Given the description of an element on the screen output the (x, y) to click on. 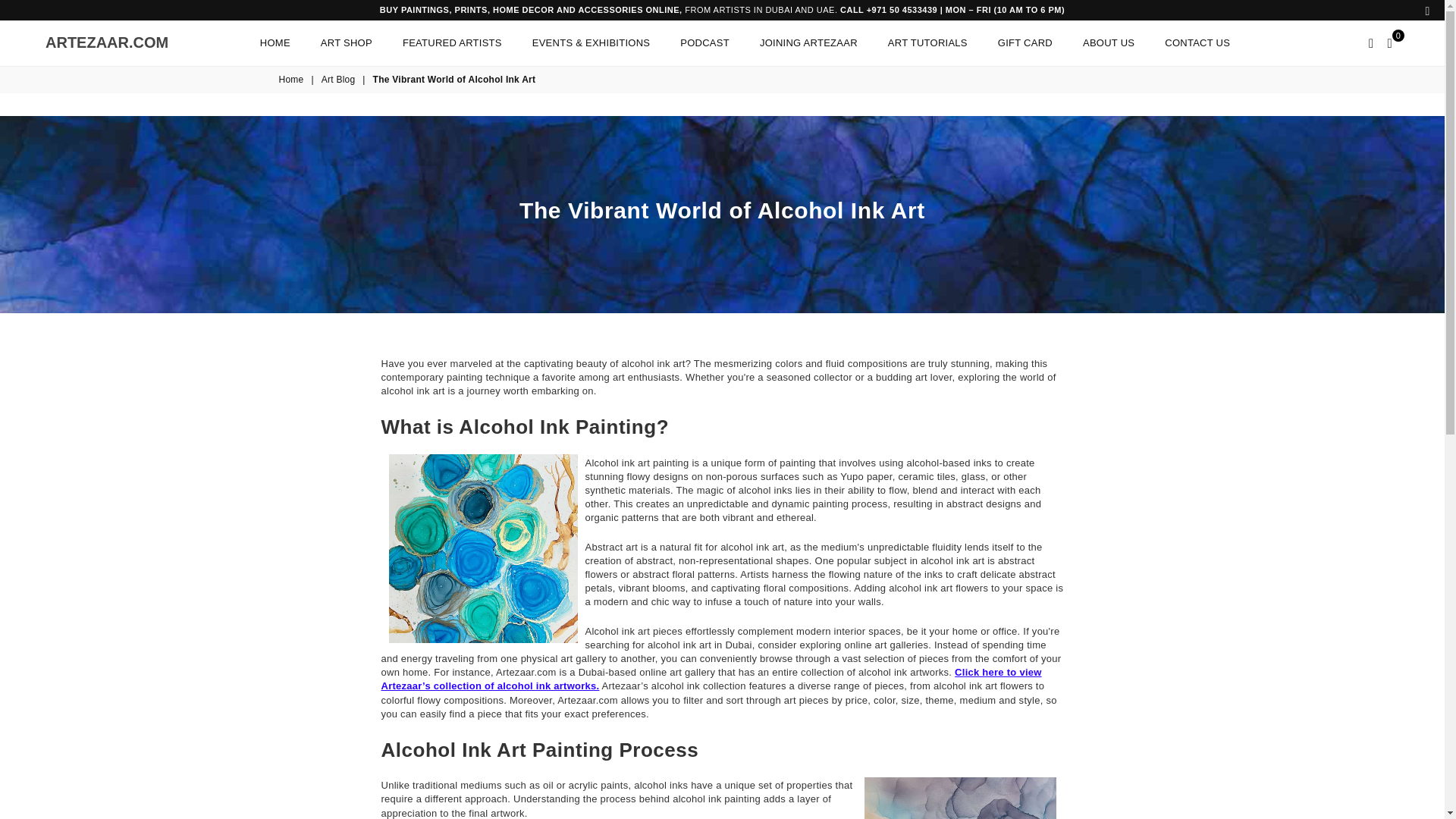
ART SHOP (346, 42)
HOME (274, 42)
FEATURED ARTISTS (452, 42)
Back to the home page (106, 42)
